Given the description of an element on the screen output the (x, y) to click on. 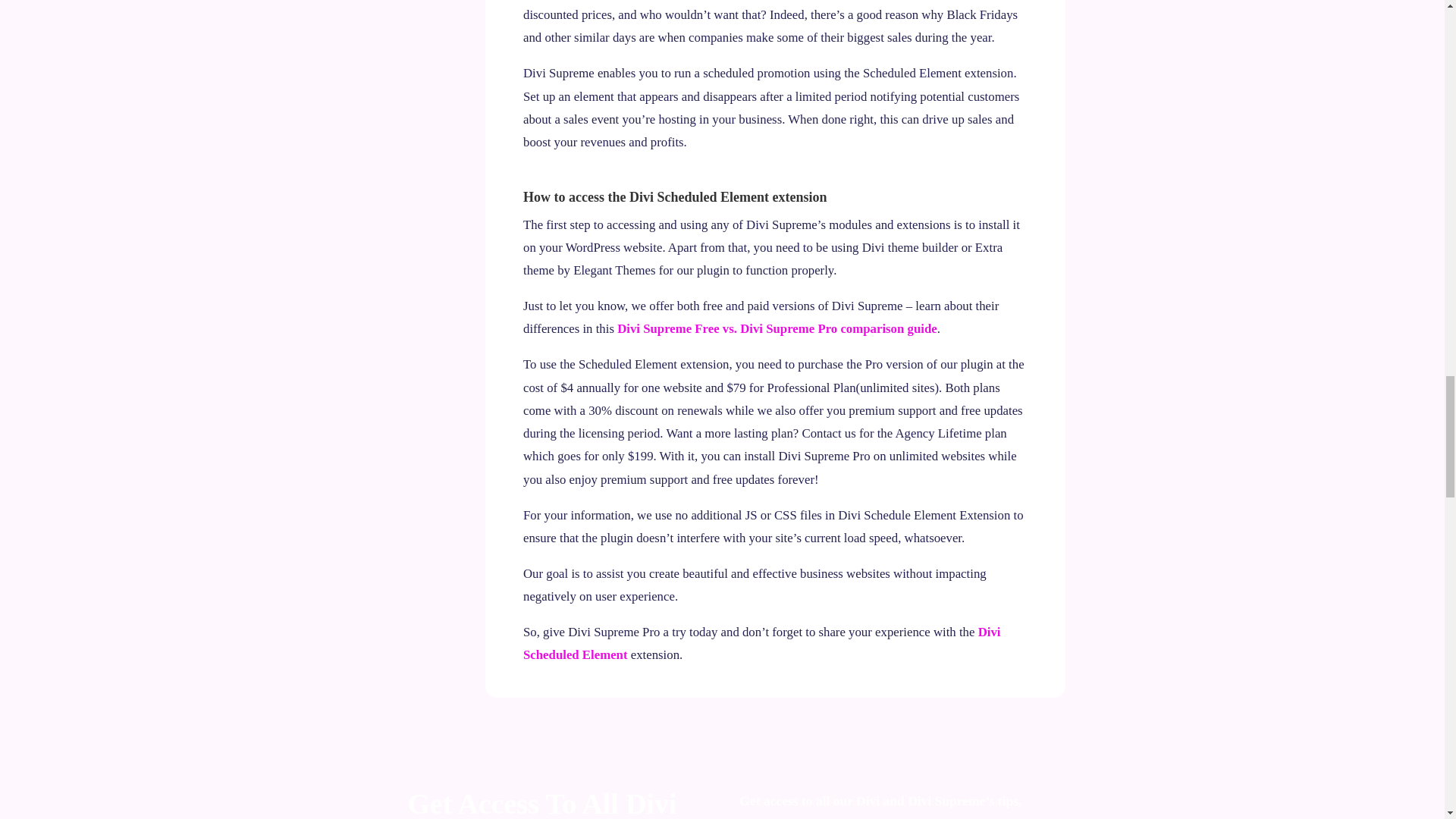
Divi Scheduled Element (761, 642)
Divi Supreme Free vs. Divi Supreme Pro comparison guide (777, 328)
